Given the description of an element on the screen output the (x, y) to click on. 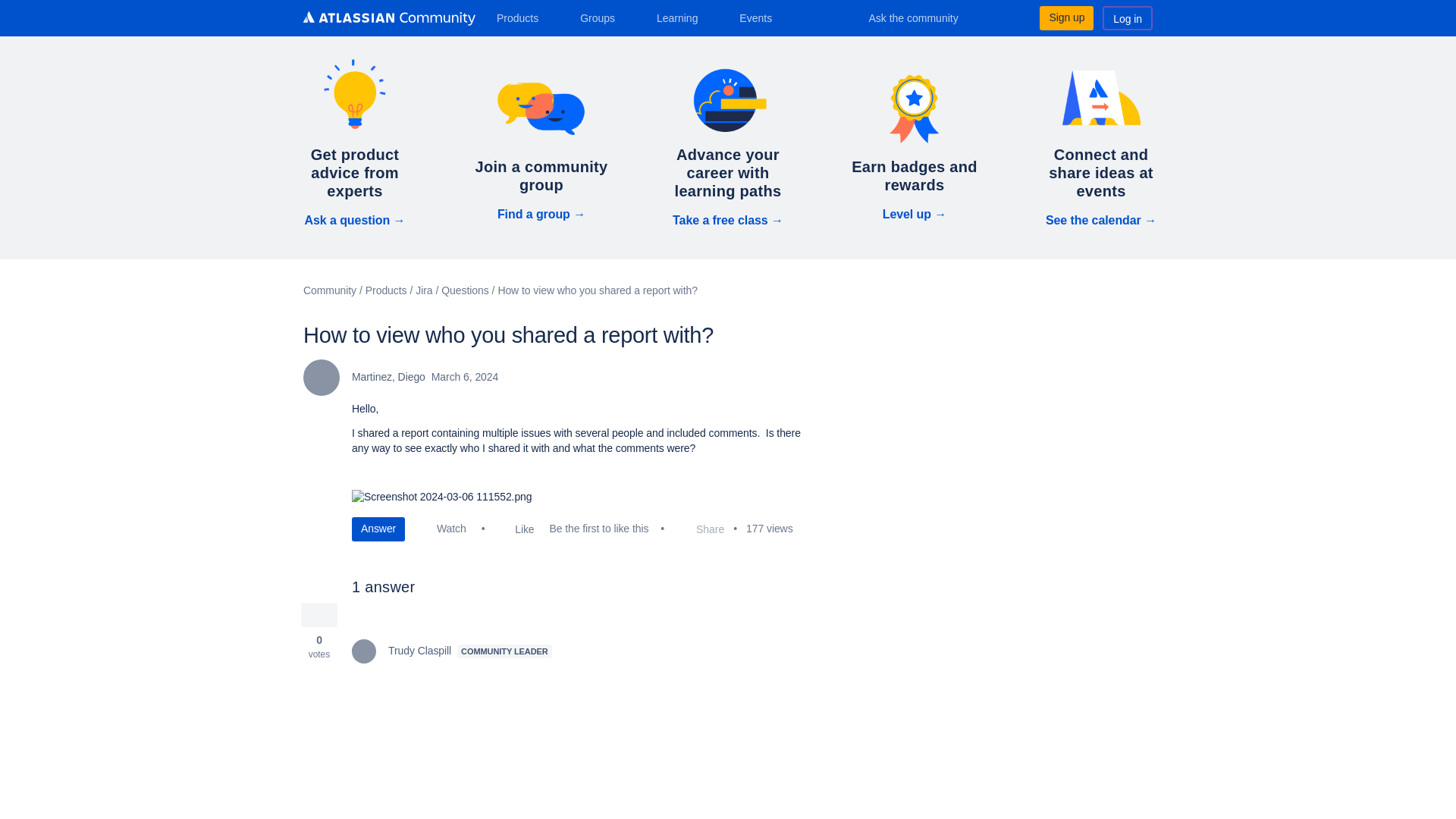
Learning (682, 17)
Events (761, 17)
Products (523, 17)
Log in (1127, 17)
Atlassian Community logo (389, 19)
Sign up (1066, 17)
Atlassian Community logo (389, 18)
Screenshot 2024-03-06 111552.png (442, 497)
Martinez, Diego (320, 377)
Trudy Claspill (363, 651)
